Given the description of an element on the screen output the (x, y) to click on. 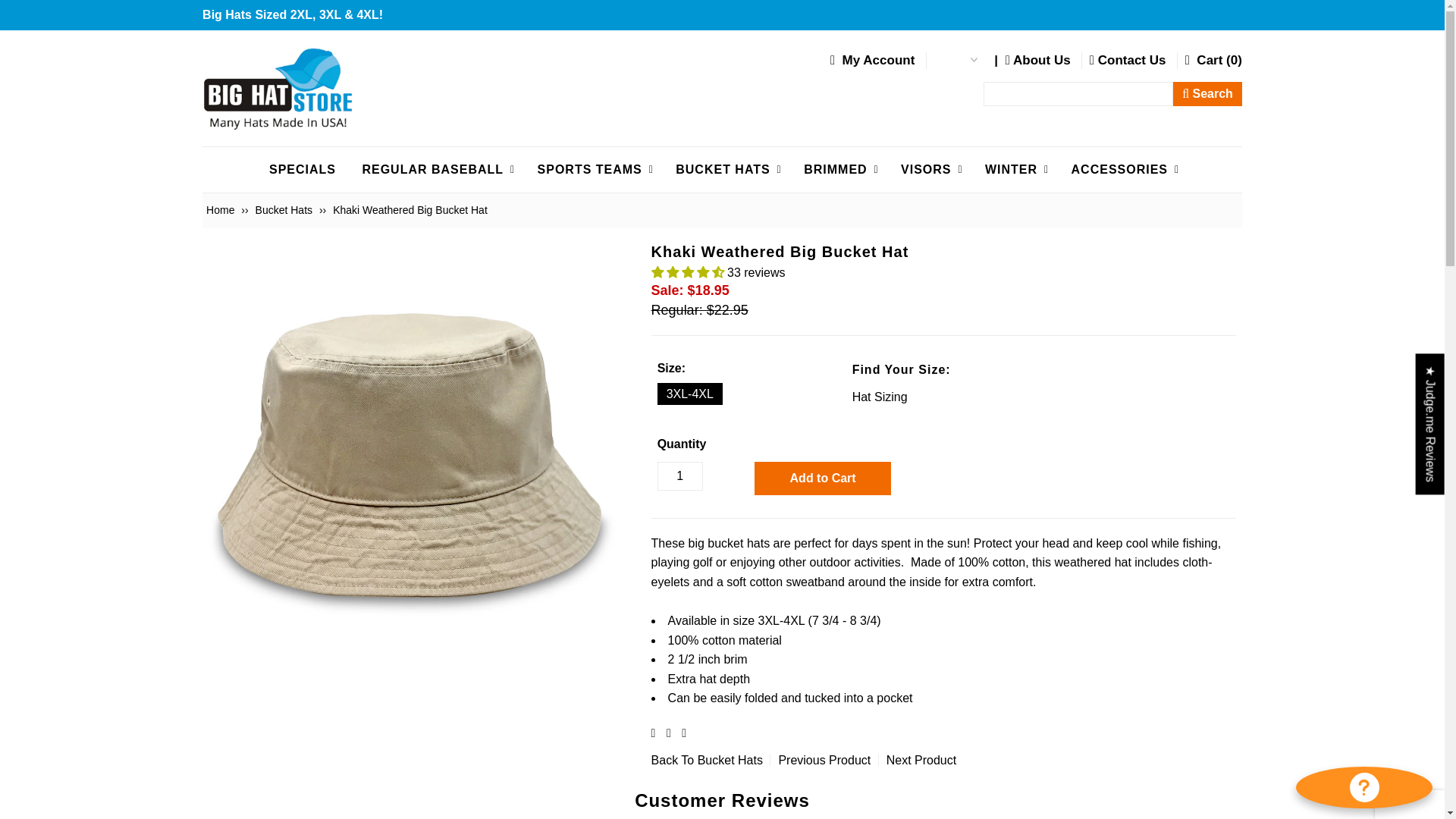
1 (680, 475)
Big Hats and Hats for Big Heads (277, 88)
Home (222, 209)
Add to Cart (822, 478)
